Given the description of an element on the screen output the (x, y) to click on. 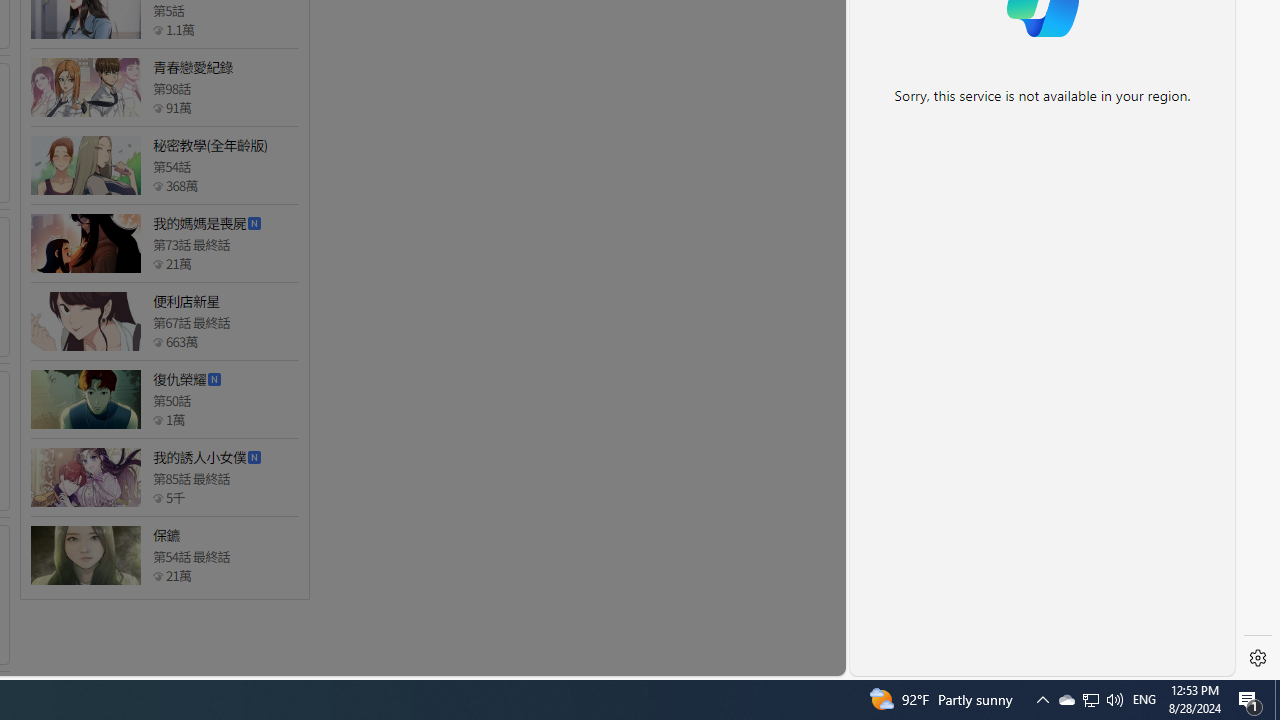
Class: epicon_starpoint (158, 575)
